Given the description of an element on the screen output the (x, y) to click on. 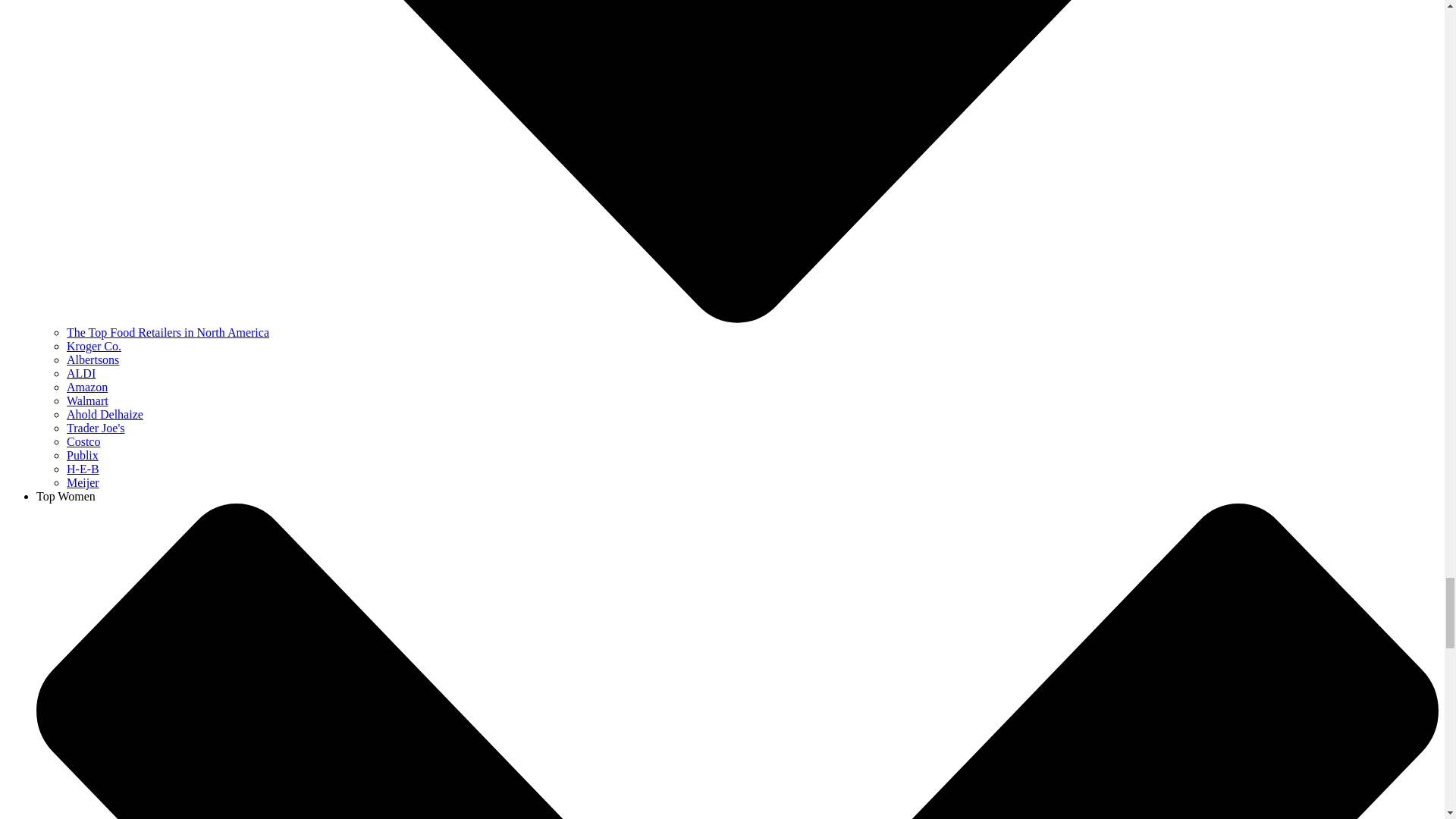
ALDI (81, 373)
Ahold Delhaize (104, 413)
Top Women (66, 495)
The Top Food Retailers in North America (167, 332)
Trader Joe's (95, 427)
Meijer (82, 481)
Albertsons (92, 359)
Publix (82, 454)
Costco (83, 440)
Amazon (86, 386)
